Given the description of an element on the screen output the (x, y) to click on. 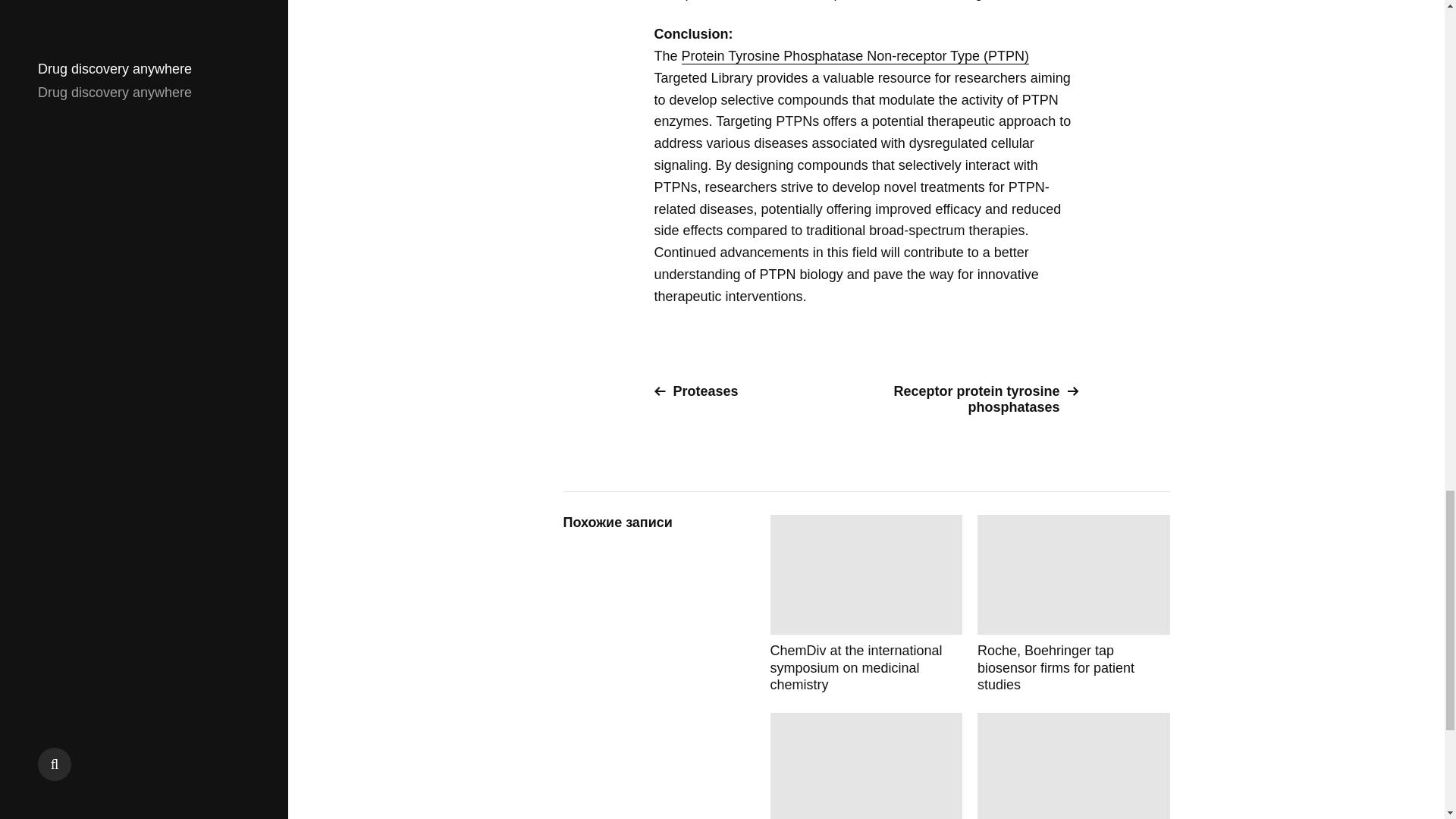
Proteases (753, 391)
Roche, Boehringer tap biosensor firms for patient studies (1073, 604)
Receptor protein tyrosine phosphatases (977, 399)
Regenerative Medicine Focused Library (866, 765)
